Given the description of an element on the screen output the (x, y) to click on. 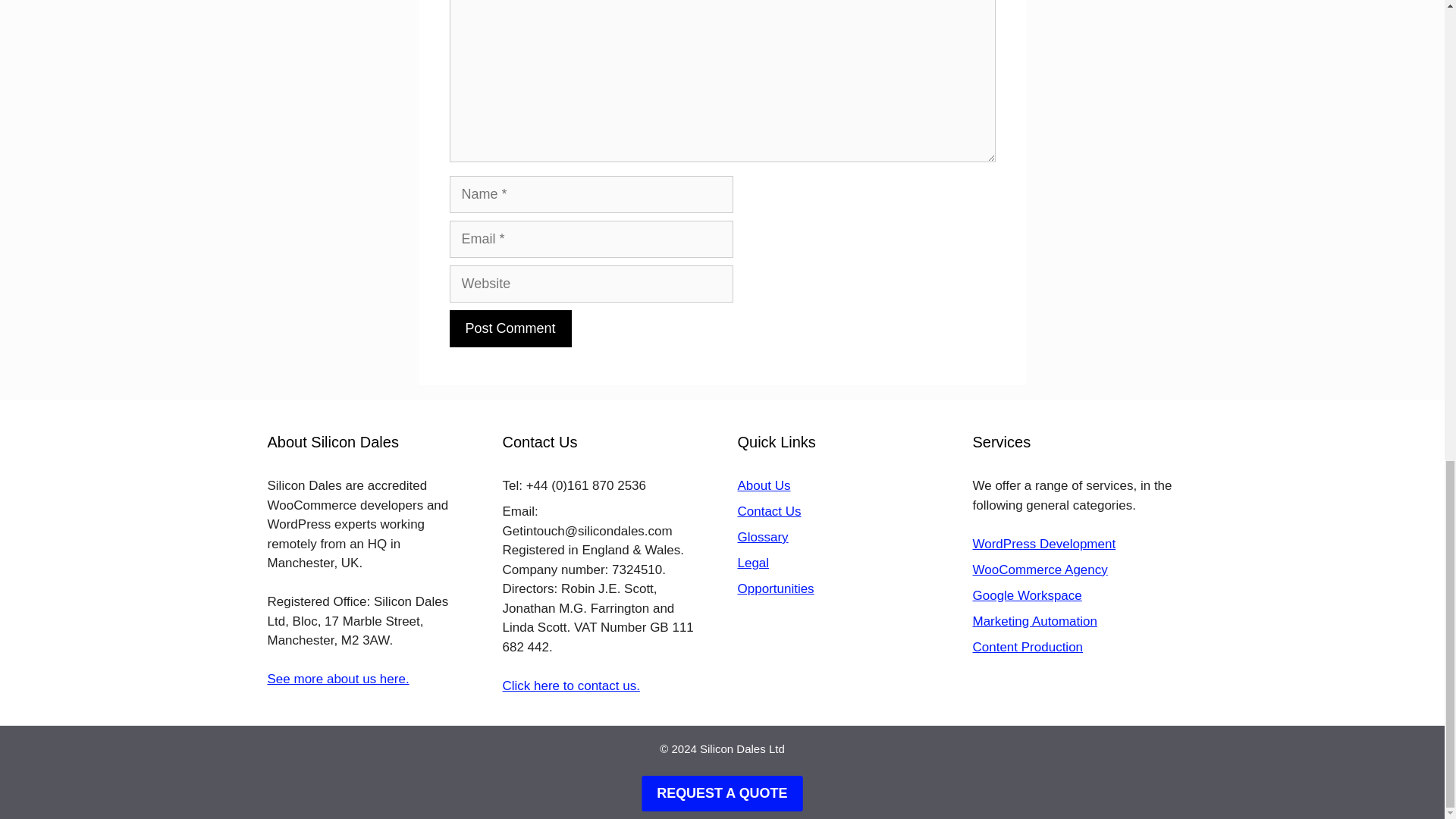
Opportunities (774, 588)
WordPress Development (1043, 544)
Post Comment (509, 328)
About Us (763, 485)
Contact Us (768, 511)
Glossary (761, 536)
Post Comment (509, 328)
WooCommerce Agency (1039, 569)
Google Workspace (1026, 595)
Click here to contact us. (570, 685)
